Given the description of an element on the screen output the (x, y) to click on. 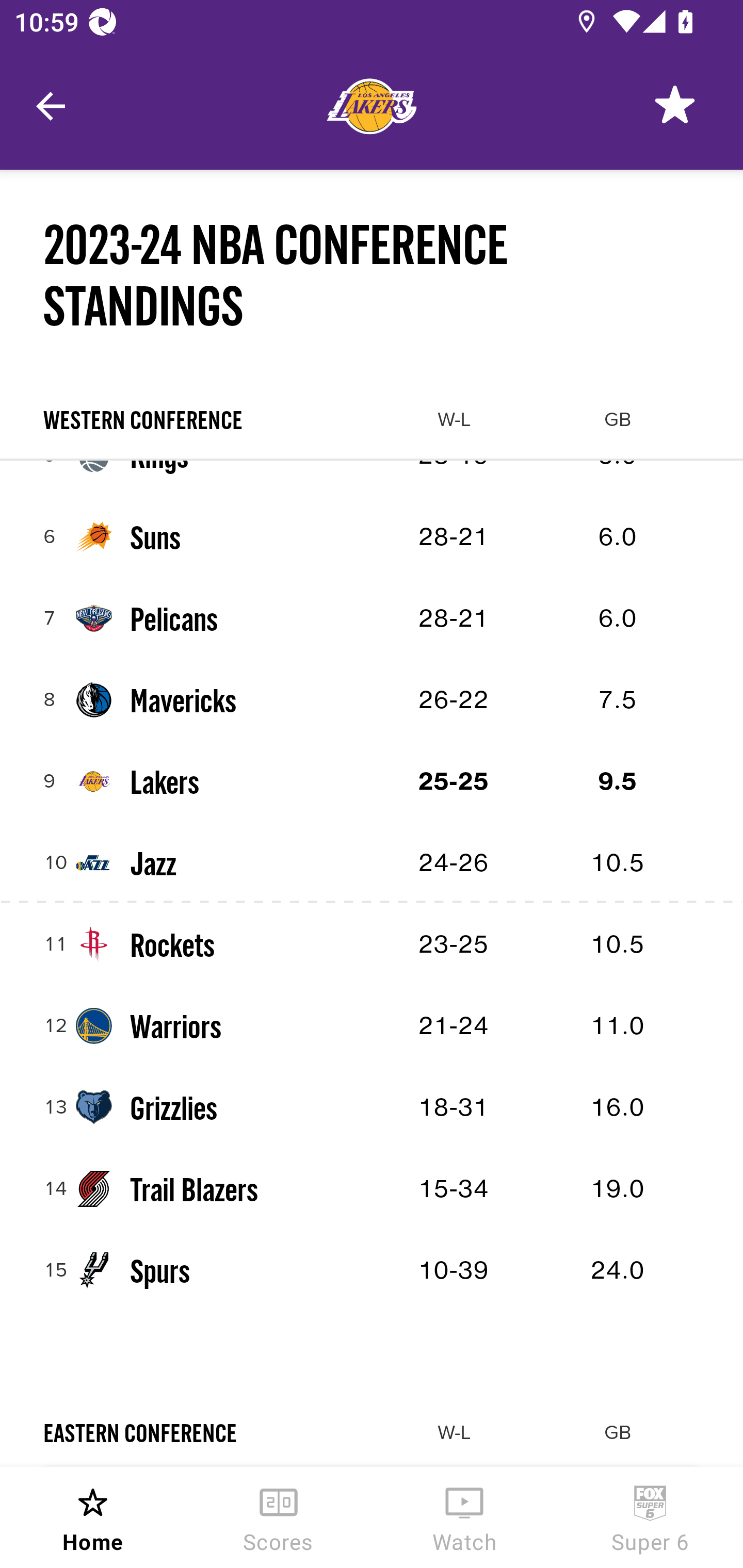
Navigate up (50, 106)
6 Suns 28-21 6.0 (371, 537)
7 Pelicans 28-21 6.0 (371, 618)
8 Mavericks 26-22 7.5 (371, 700)
10 Jazz 24-26 10.5 (371, 862)
11 Rockets 23-25 10.5 (371, 943)
12 Warriors 21-24 11.0 (371, 1025)
13 Grizzlies 18-31 16.0 (371, 1106)
14 Trail Blazers 15-34 19.0 (371, 1188)
15 Spurs 10-39 24.0 (371, 1269)
EASTERN CONFERENCE W-L GB (371, 1432)
Scores (278, 1517)
Watch (464, 1517)
Super 6 (650, 1517)
